Given the description of an element on the screen output the (x, y) to click on. 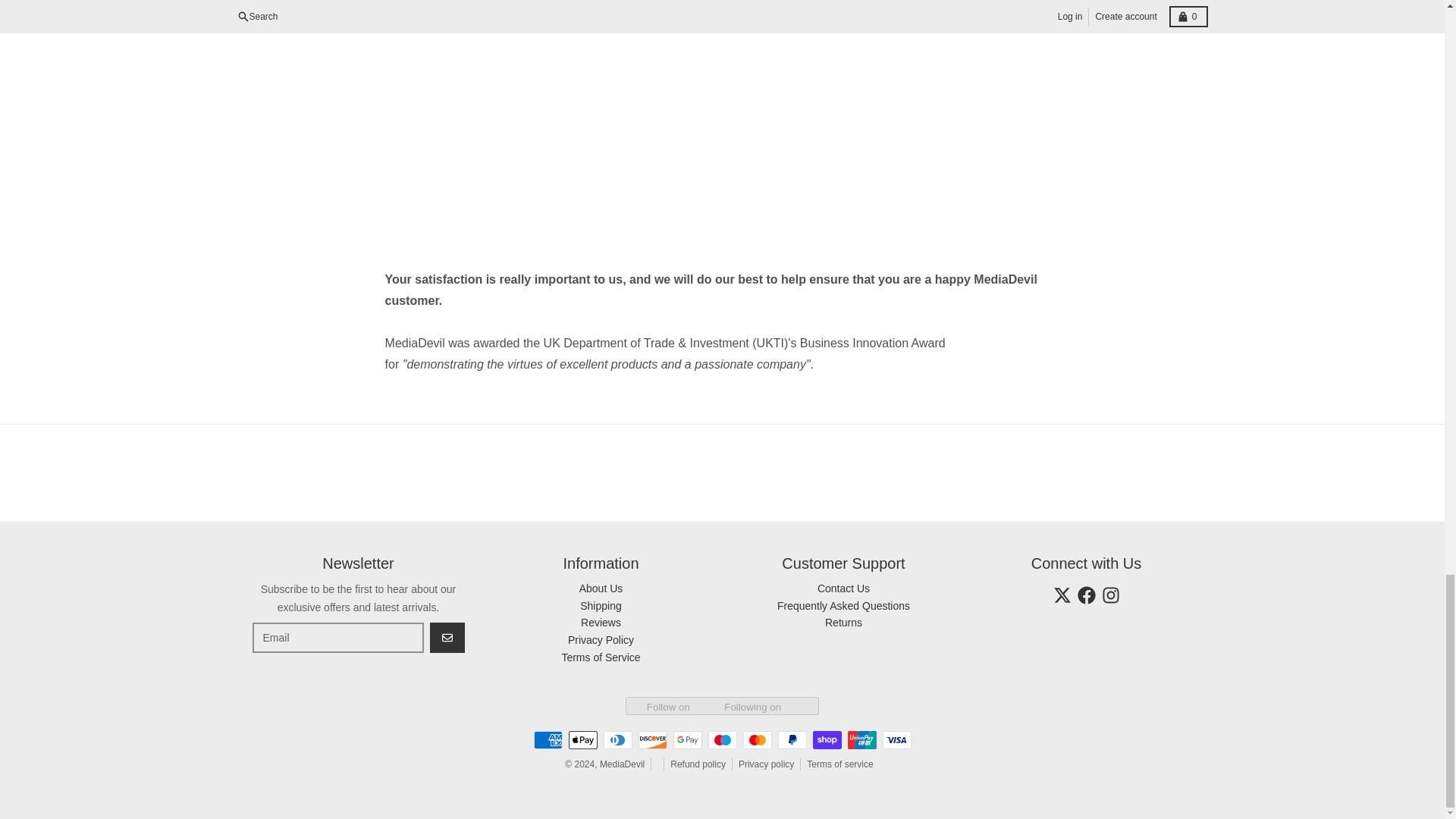
Instagram - MediaDevil (1109, 595)
Twitter - MediaDevil (1061, 595)
Facebook - MediaDevil (1085, 595)
